Given the description of an element on the screen output the (x, y) to click on. 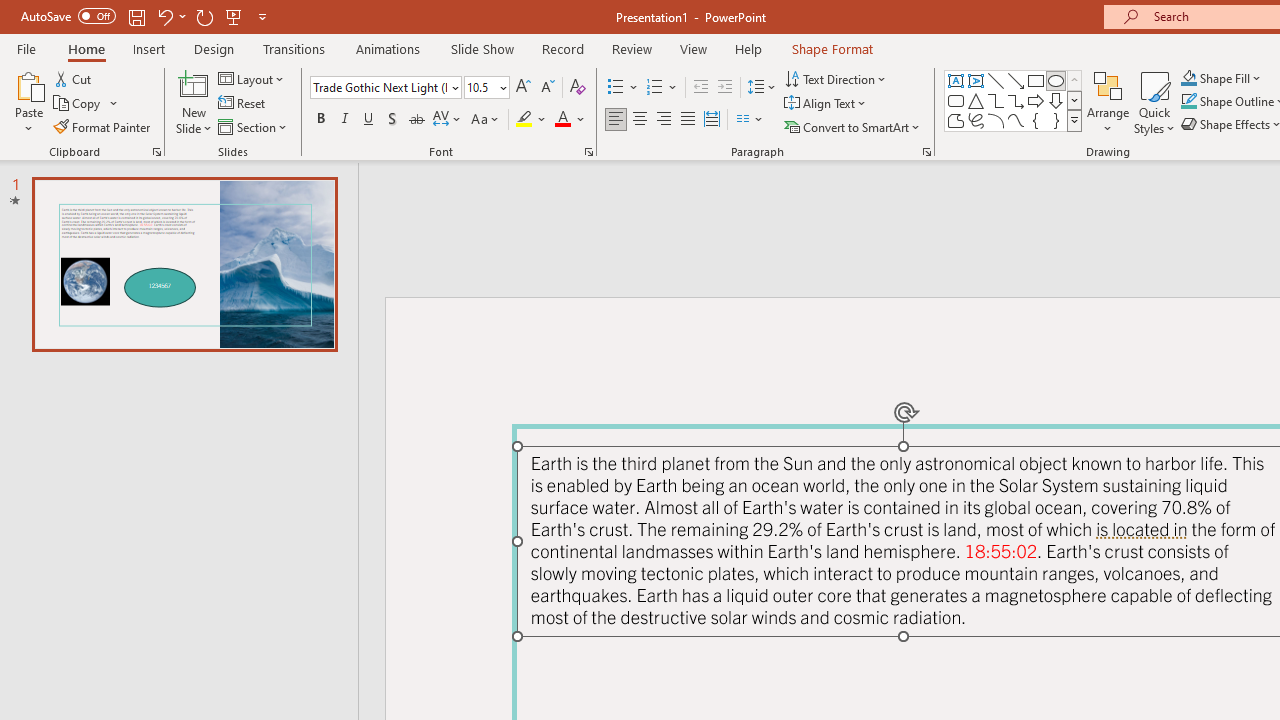
Bullets (623, 87)
Line Spacing (762, 87)
More Options (1232, 78)
Quick Styles (1154, 102)
Section (254, 126)
Paste (28, 84)
Increase Font Size (522, 87)
Arrange (1108, 102)
Reset (243, 103)
Redo (204, 15)
Rectangle (1035, 80)
Shadow (392, 119)
Numbering (661, 87)
Shape Fill (1221, 78)
